Given the description of an element on the screen output the (x, y) to click on. 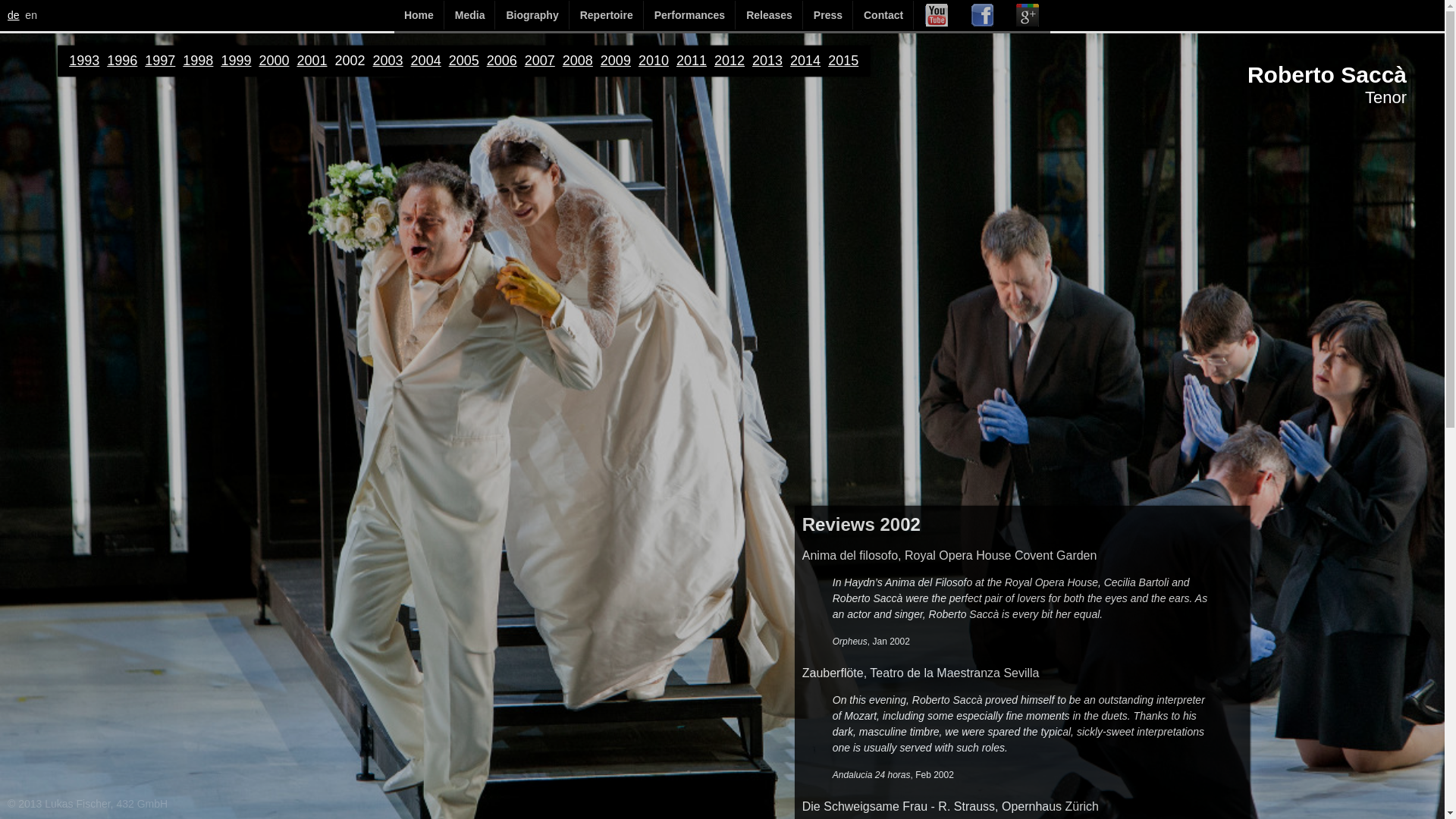
de (13, 15)
1993 (83, 60)
Youtube (935, 15)
2005 (463, 60)
Contact (883, 14)
2011 (691, 60)
1999 (235, 60)
1997 (159, 60)
Biography (532, 14)
Facebook (981, 15)
